Given the description of an element on the screen output the (x, y) to click on. 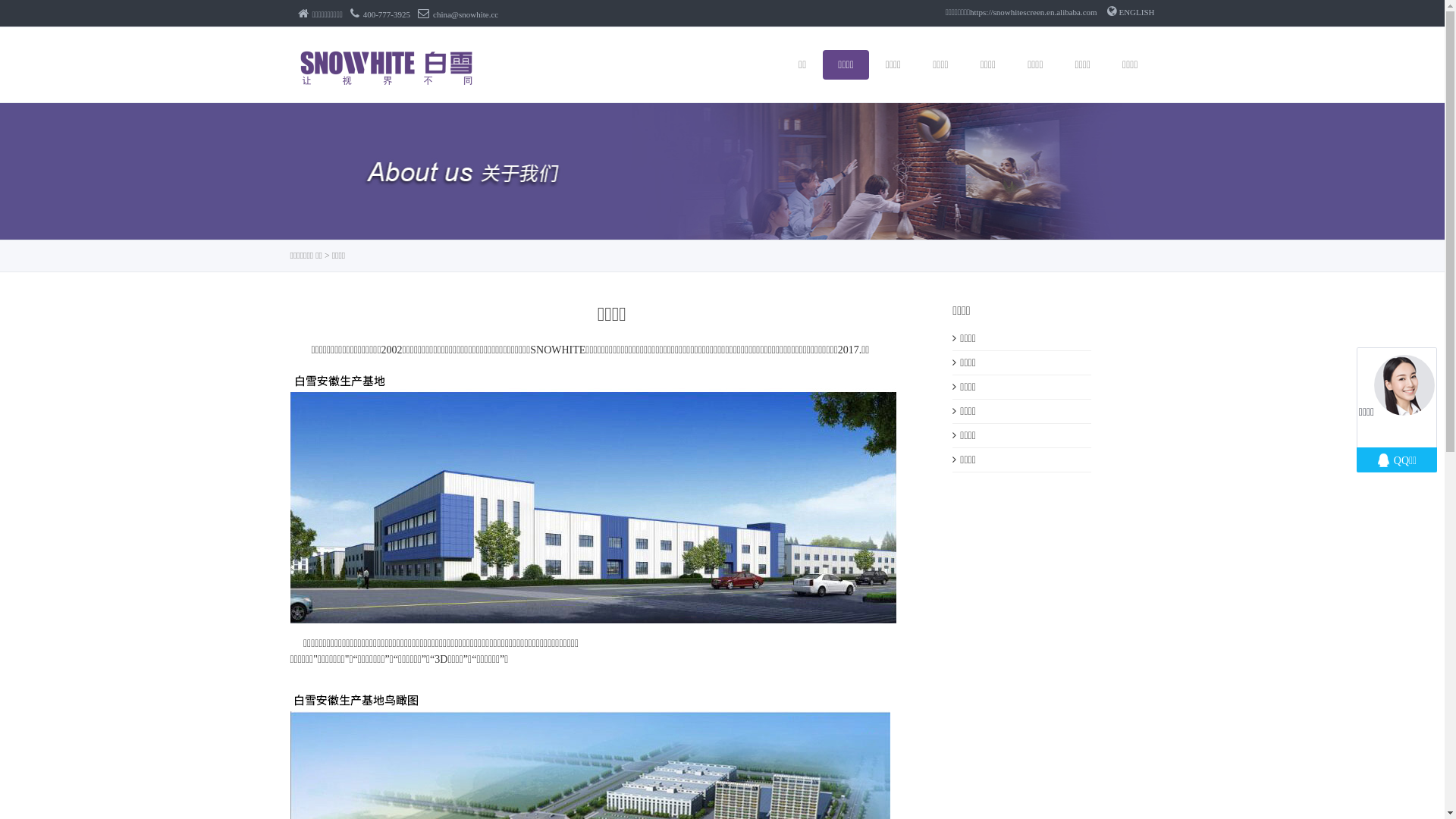
china@snowhite.cc Element type: text (457, 13)
ENGLISH Element type: text (1130, 11)
400-777-3925 Element type: text (380, 13)
